Given the description of an element on the screen output the (x, y) to click on. 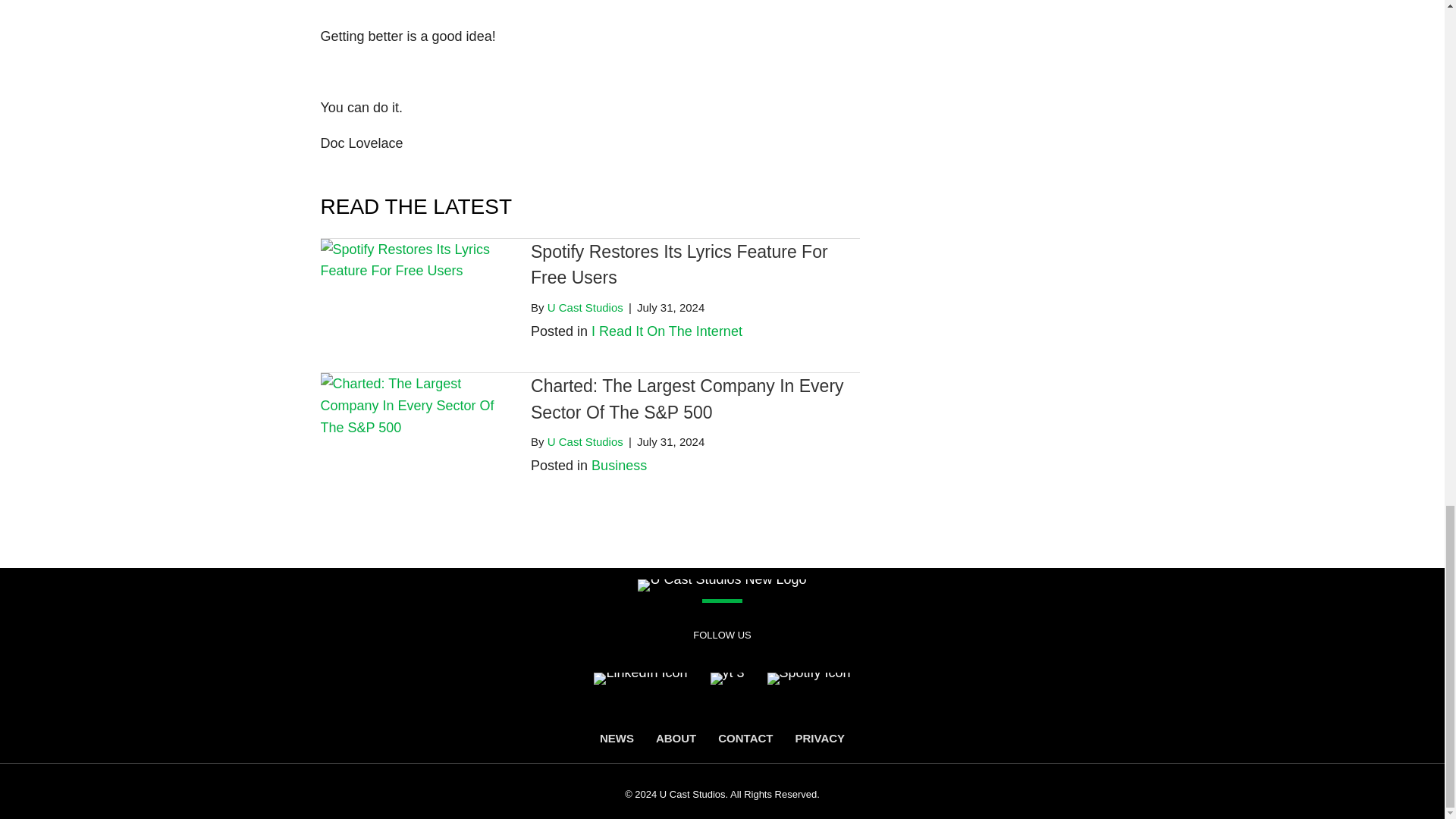
Spotify Restores Its Lyrics Feature For Free Users (679, 264)
U Cast Studios (585, 440)
Business (618, 465)
I Read It On The Internet (666, 331)
U Cast Studios (585, 307)
Spotify Restores Its Lyrics Feature For Free Users (679, 264)
Spotify Restores Its Lyrics Feature For Free Users (414, 291)
